Given the description of an element on the screen output the (x, y) to click on. 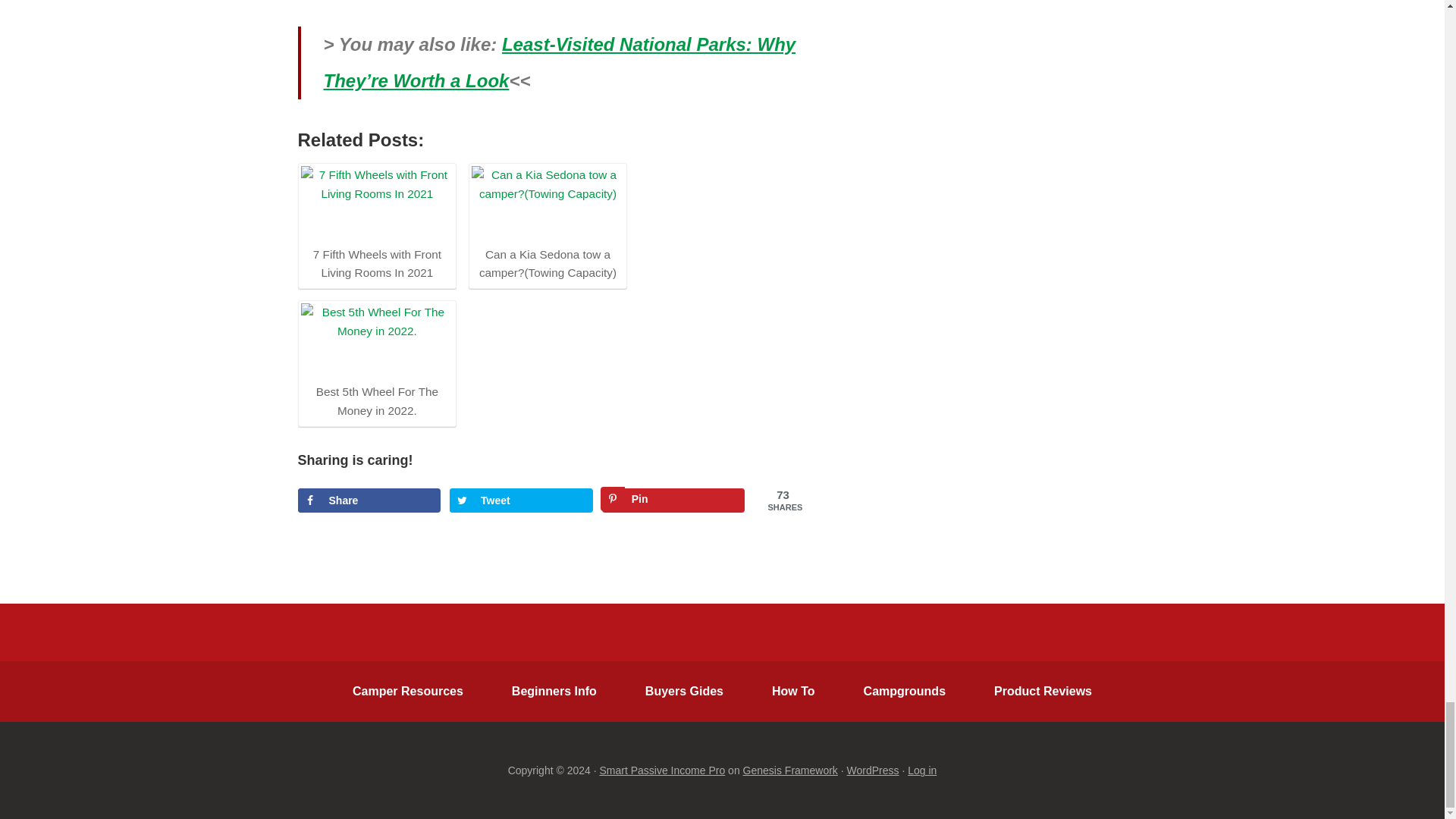
Pin (673, 500)
7 Fifth Wheels with Front Living Rooms In 2021 (375, 204)
Share on Facebook (369, 500)
Save to Pinterest (673, 500)
Best 5th Wheel For The Money in 2022. (375, 341)
Share (369, 500)
Tweet (520, 500)
7 Fifth Wheels with Front Living Rooms In 2021 (375, 224)
Share on Twitter (520, 500)
Best 5th Wheel For The Money in 2022. (375, 361)
